Given the description of an element on the screen output the (x, y) to click on. 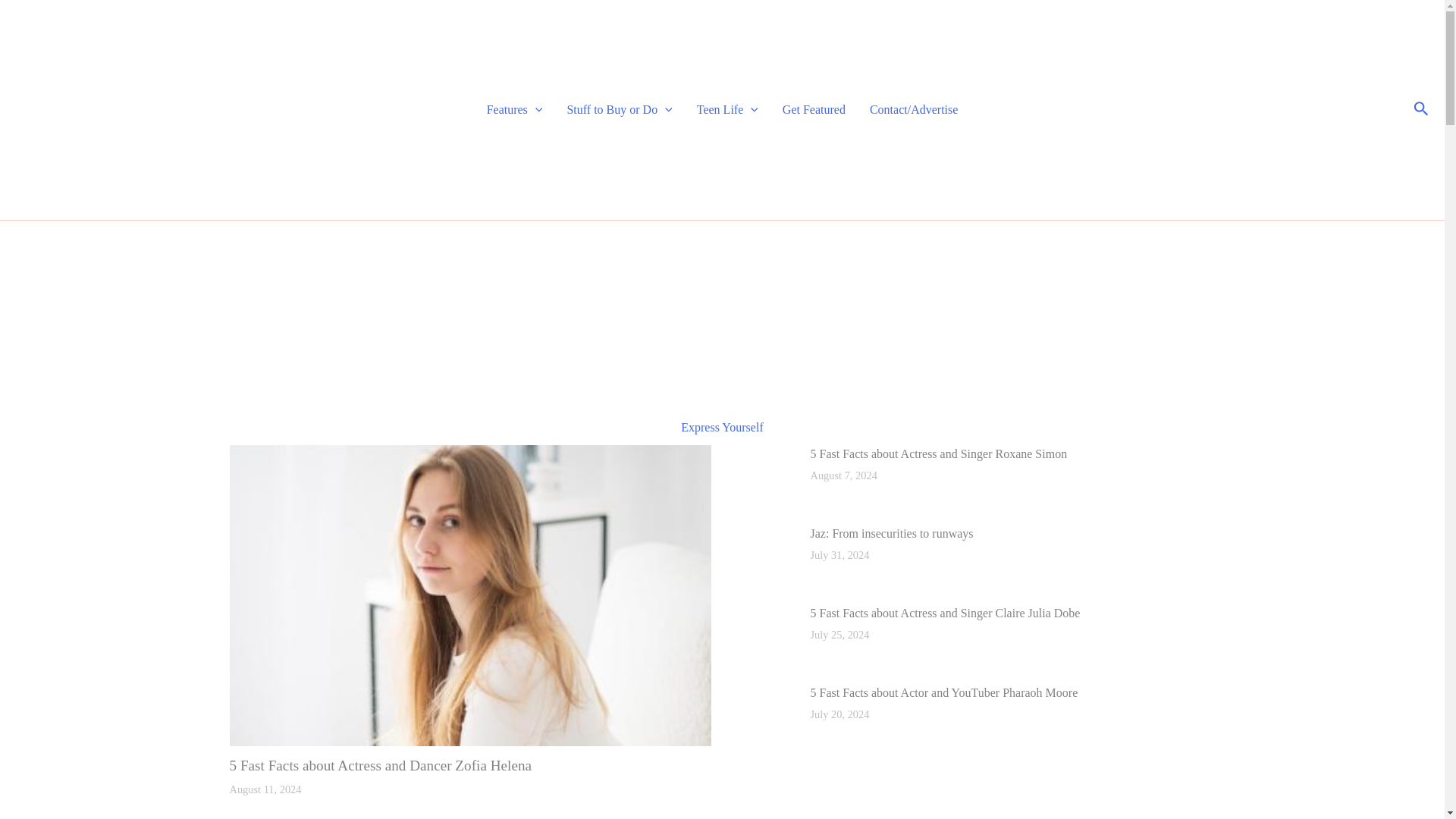
Get Featured (813, 109)
Stuff to Buy or Do (619, 109)
Teen Life (727, 109)
Features (514, 109)
